Given the description of an element on the screen output the (x, y) to click on. 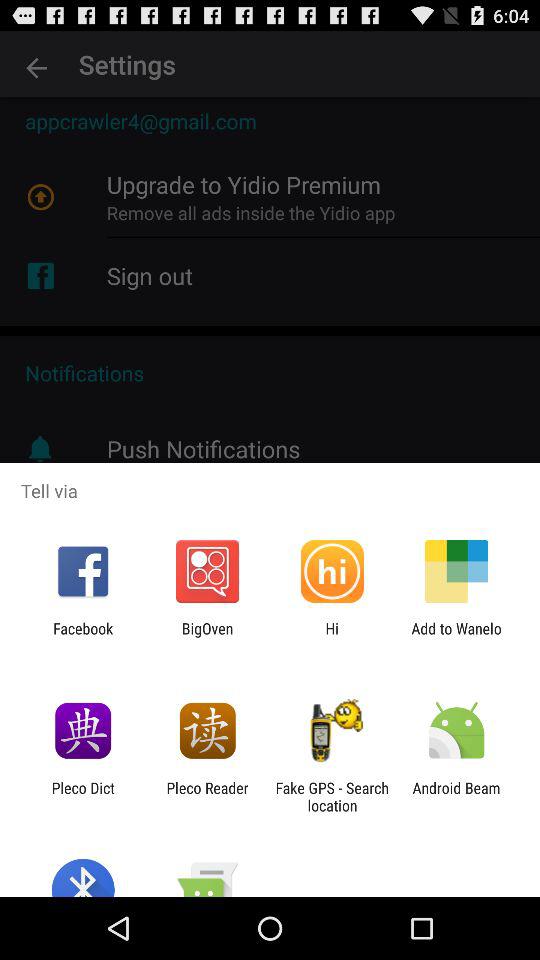
turn on icon to the right of the fake gps search (456, 796)
